Given the description of an element on the screen output the (x, y) to click on. 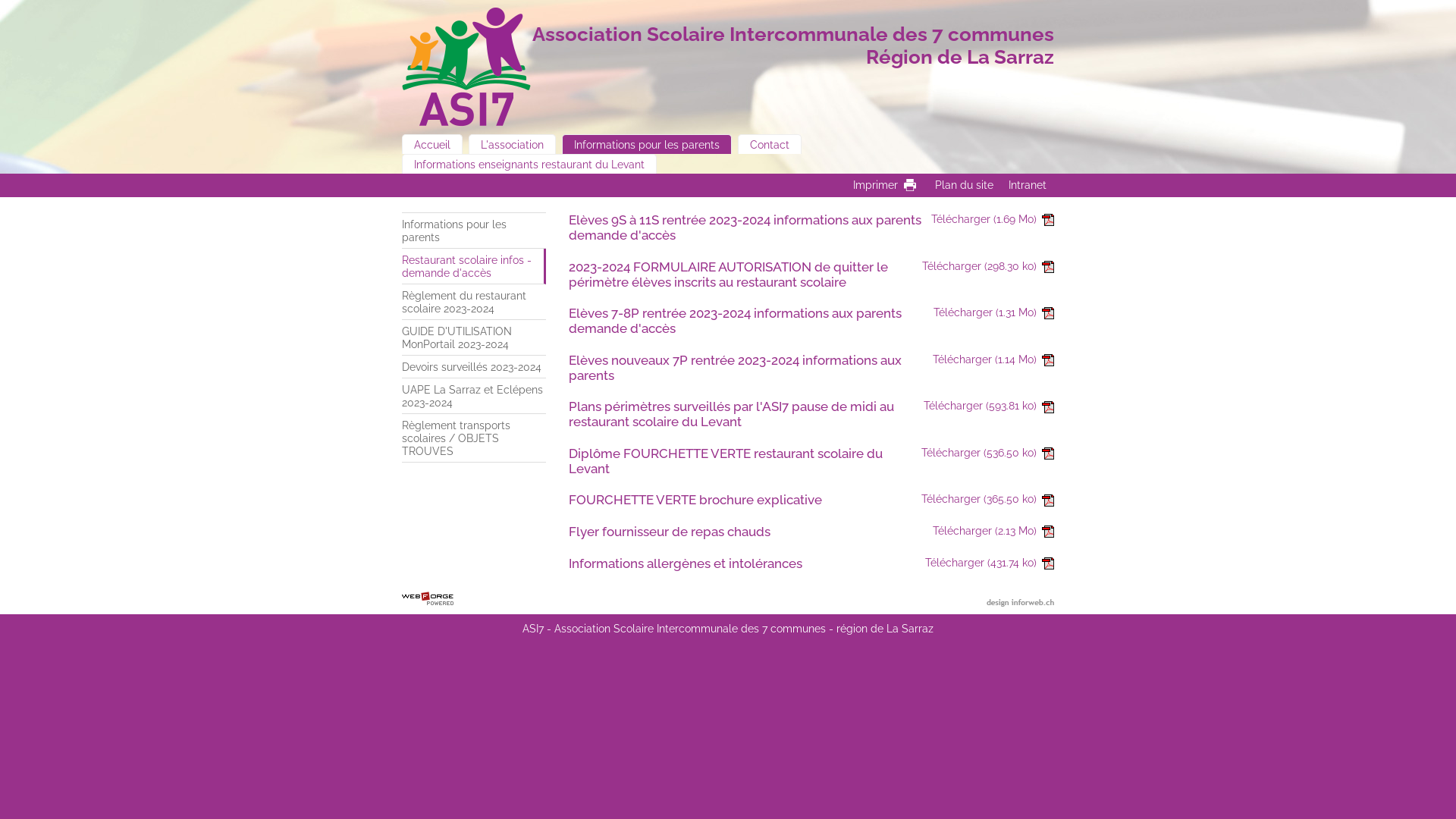
Contact Element type: text (769, 143)
Informations pour les parents Element type: text (473, 230)
Accueil Element type: text (431, 143)
Informations enseignants restaurant du Levant Element type: text (528, 163)
GUIDE D'UTILISATION MonPortail 2023-2024 Element type: text (473, 337)
Modifier son site internet avec WebForge Element type: hover (427, 598)
Informations pour les parents Element type: text (646, 143)
L'association Element type: text (511, 143)
Version imprimable Element type: hover (909, 184)
Plan du site Element type: text (964, 184)
Intranet Element type: text (1027, 184)
